Given the description of an element on the screen output the (x, y) to click on. 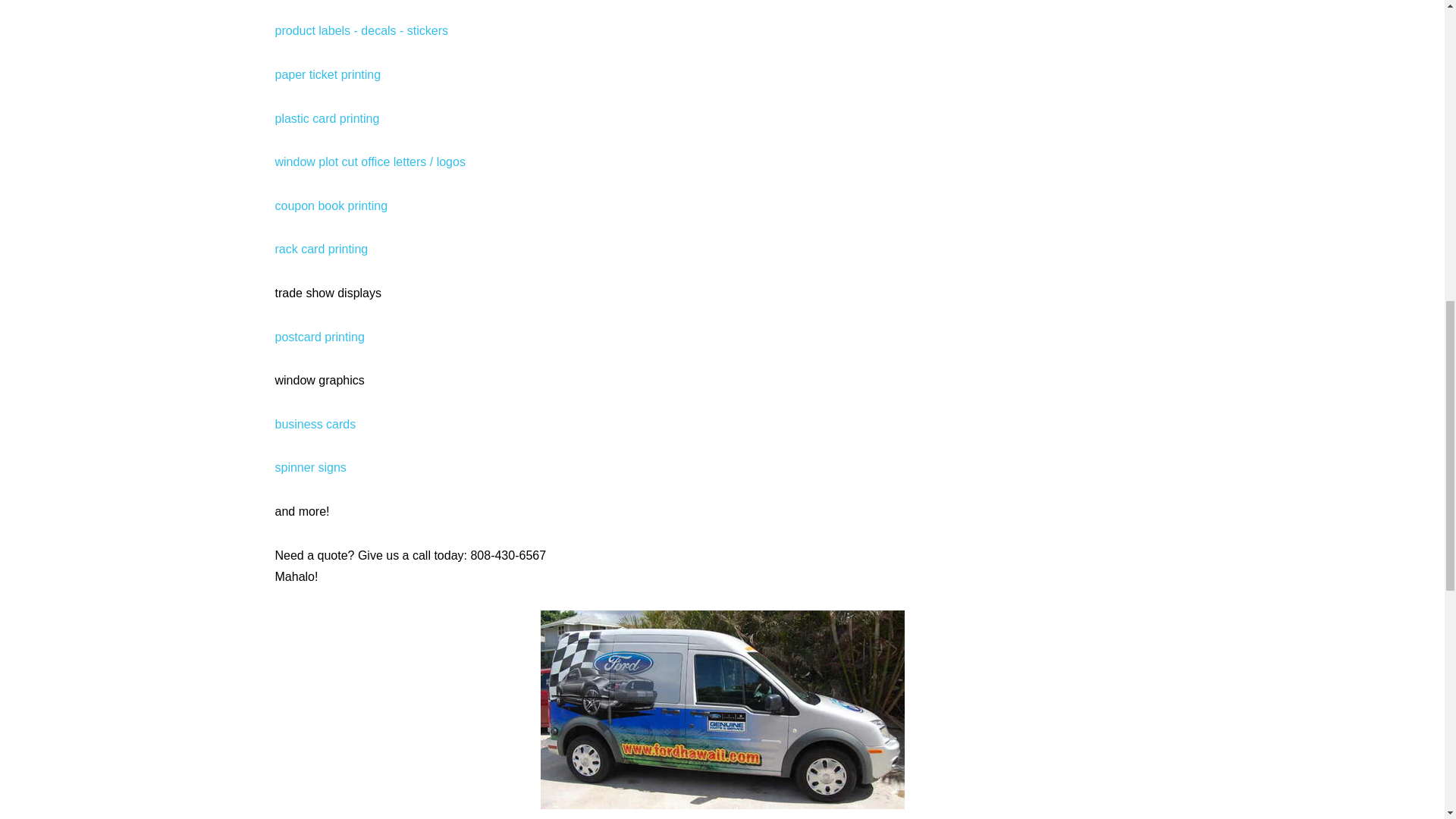
Postcard printing Hilo Hawaii (319, 336)
Plastic Card Printing Hilo Hawaii (326, 118)
Paper Ticket Printing Hilo Hawaii (327, 74)
Rack Card Printing Hilo Hawaii (321, 248)
Coupon Book Printing Hilo Hawaii (331, 205)
